Given the description of an element on the screen output the (x, y) to click on. 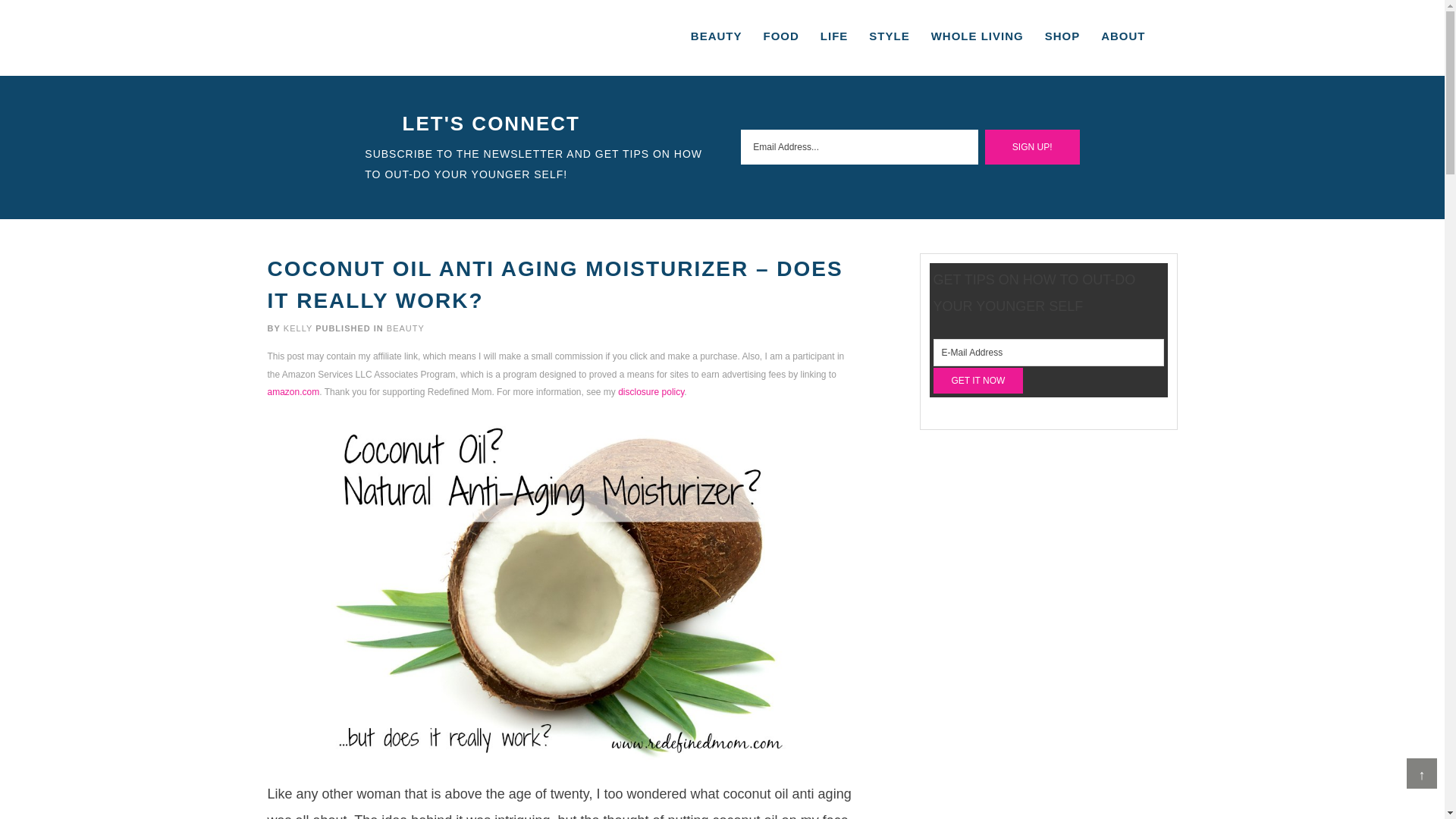
ABOUT (1123, 35)
Sign Up! (1032, 146)
Email Address... (858, 146)
STYLE (889, 35)
BEAUTY (406, 327)
Sign Up! (1032, 146)
WHOLE LIVING (976, 35)
REDEFINED MOM (392, 37)
disclosure policy (650, 391)
